Given the description of an element on the screen output the (x, y) to click on. 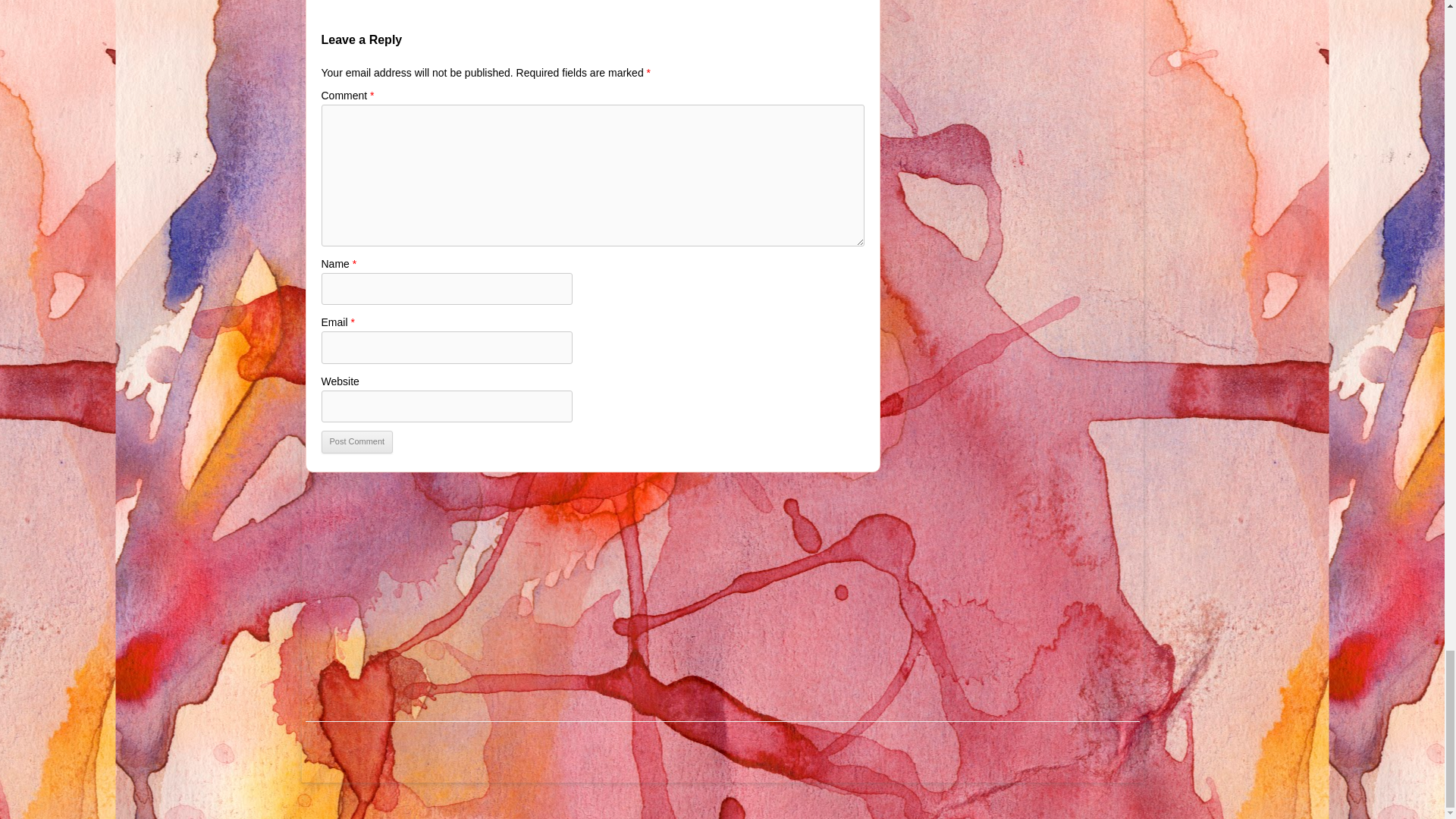
Post Comment (357, 441)
Post Comment (357, 441)
